Given the description of an element on the screen output the (x, y) to click on. 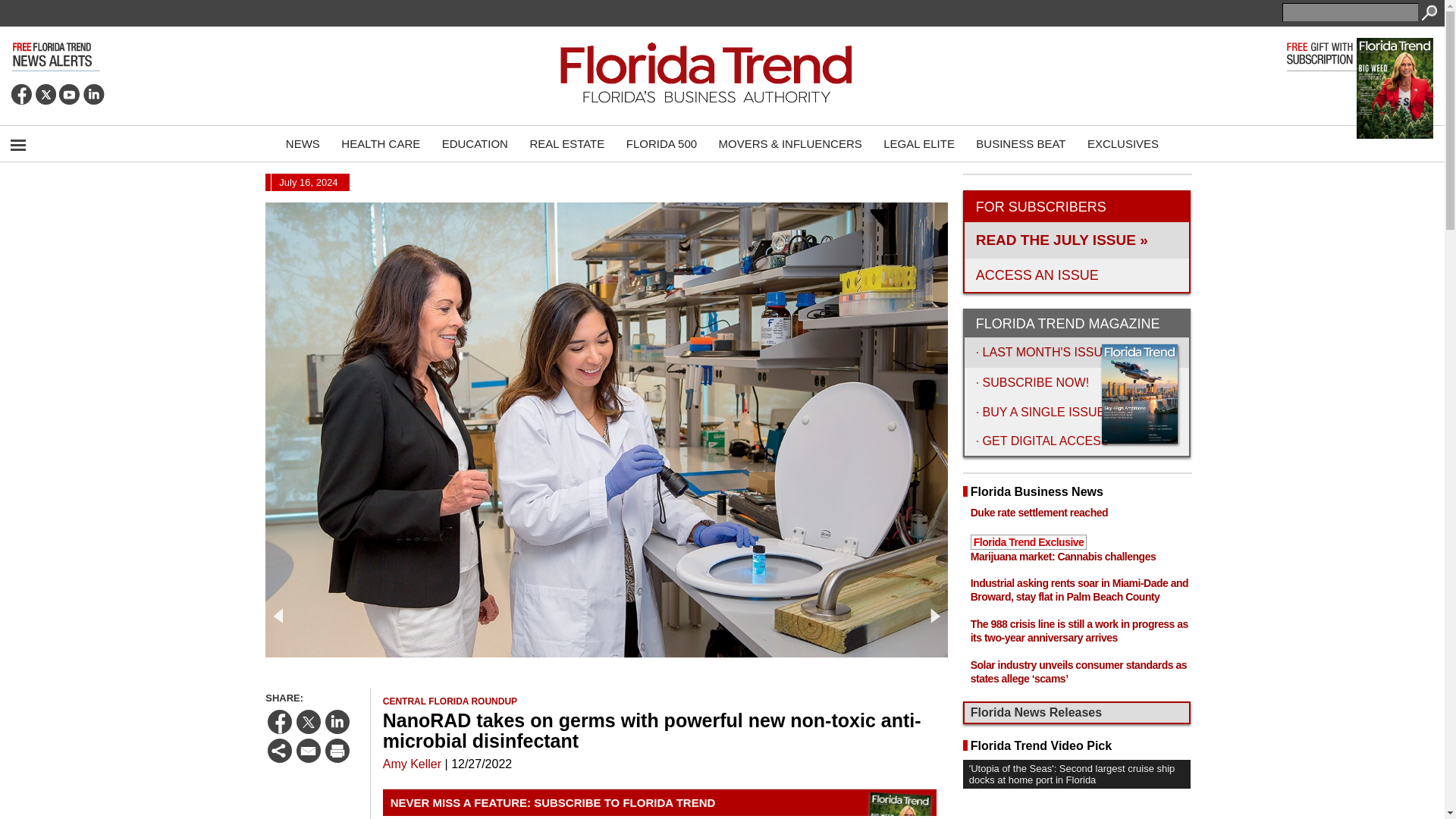
LinkedIn (93, 94)
YouTube (69, 94)
NEWS (302, 143)
EXCLUSIVES (1122, 143)
EDUCATION (474, 143)
Twitter (45, 94)
HEALTH CARE (380, 143)
LEGAL ELITE (919, 143)
Facebook (21, 94)
FLORIDA 500 (661, 143)
BUSINESS BEAT (1020, 143)
REAL ESTATE (565, 143)
